Given the description of an element on the screen output the (x, y) to click on. 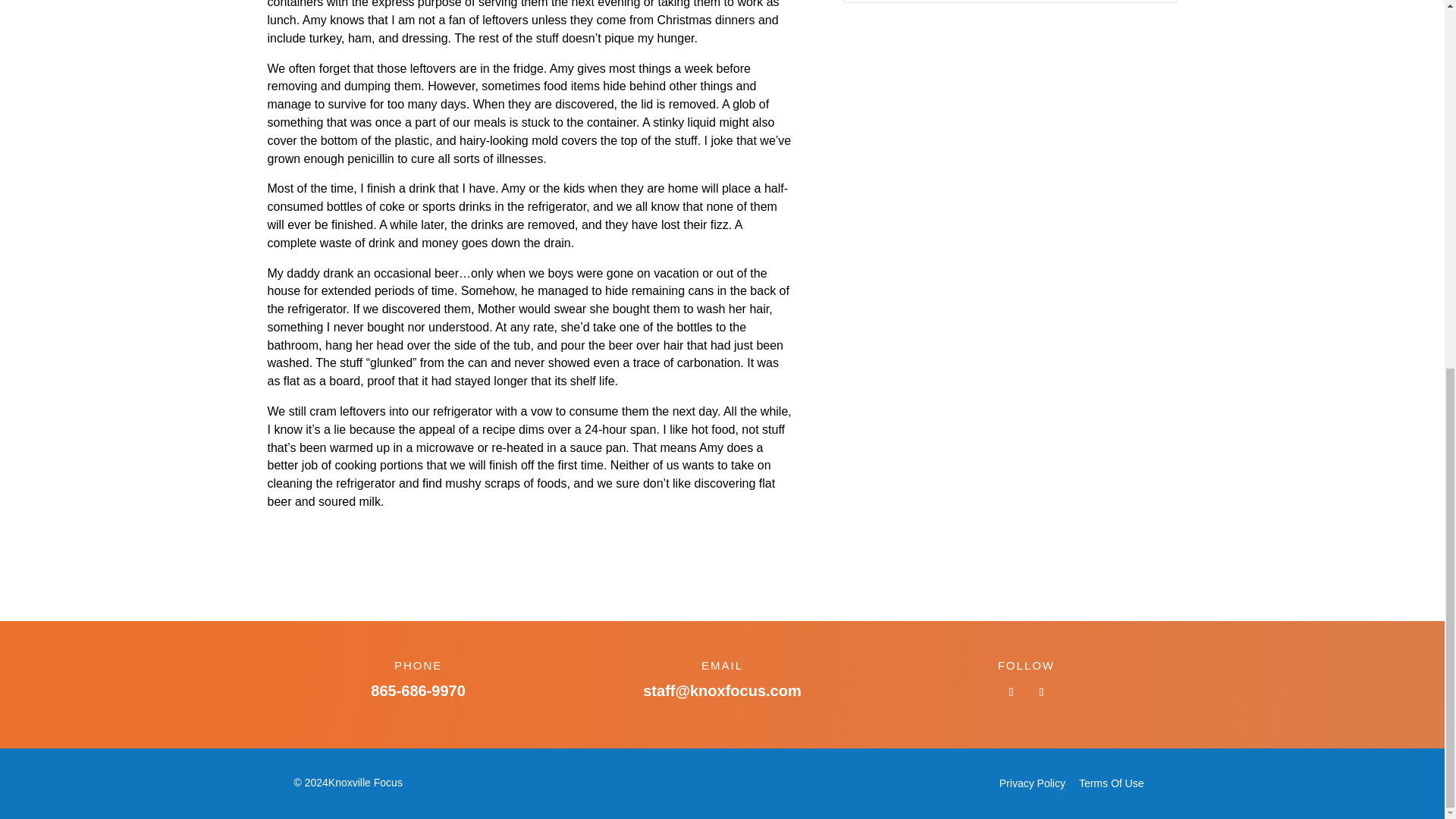
Follow on Facebook (1010, 692)
Follow on X (1040, 692)
